Given the description of an element on the screen output the (x, y) to click on. 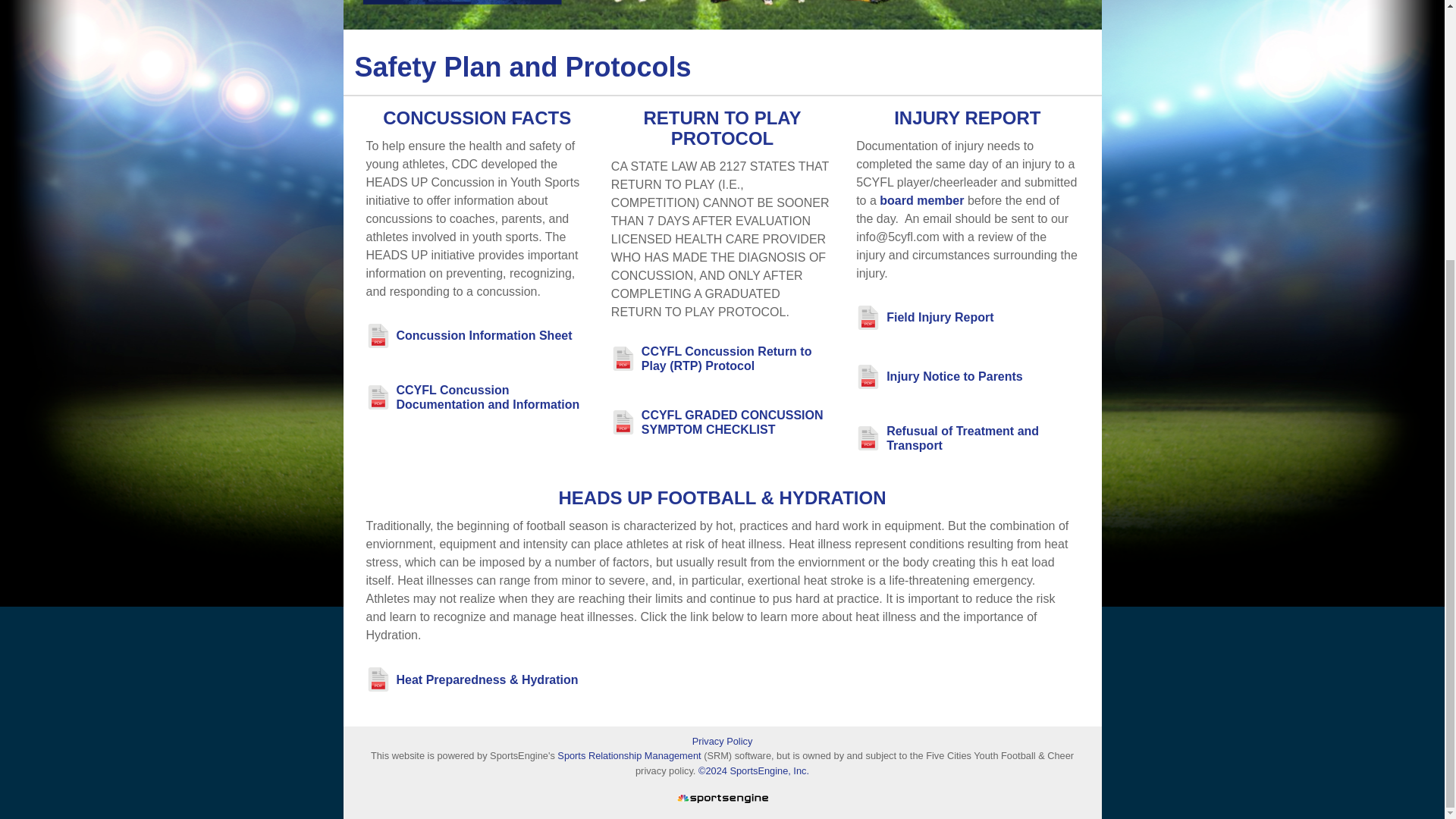
board member (921, 200)
Sports Relationship Management (630, 755)
Concussion Information Sheet (484, 335)
CCYFL GRADED CONCUSSION SYMPTOM CHECKLIST (737, 421)
CCYFL Concussion Documentation and Information (492, 397)
Field Injury Report (939, 317)
Injury Notice to Parents (954, 376)
Refusual of Treatment and Transport (982, 438)
Privacy Policy (722, 740)
